Given the description of an element on the screen output the (x, y) to click on. 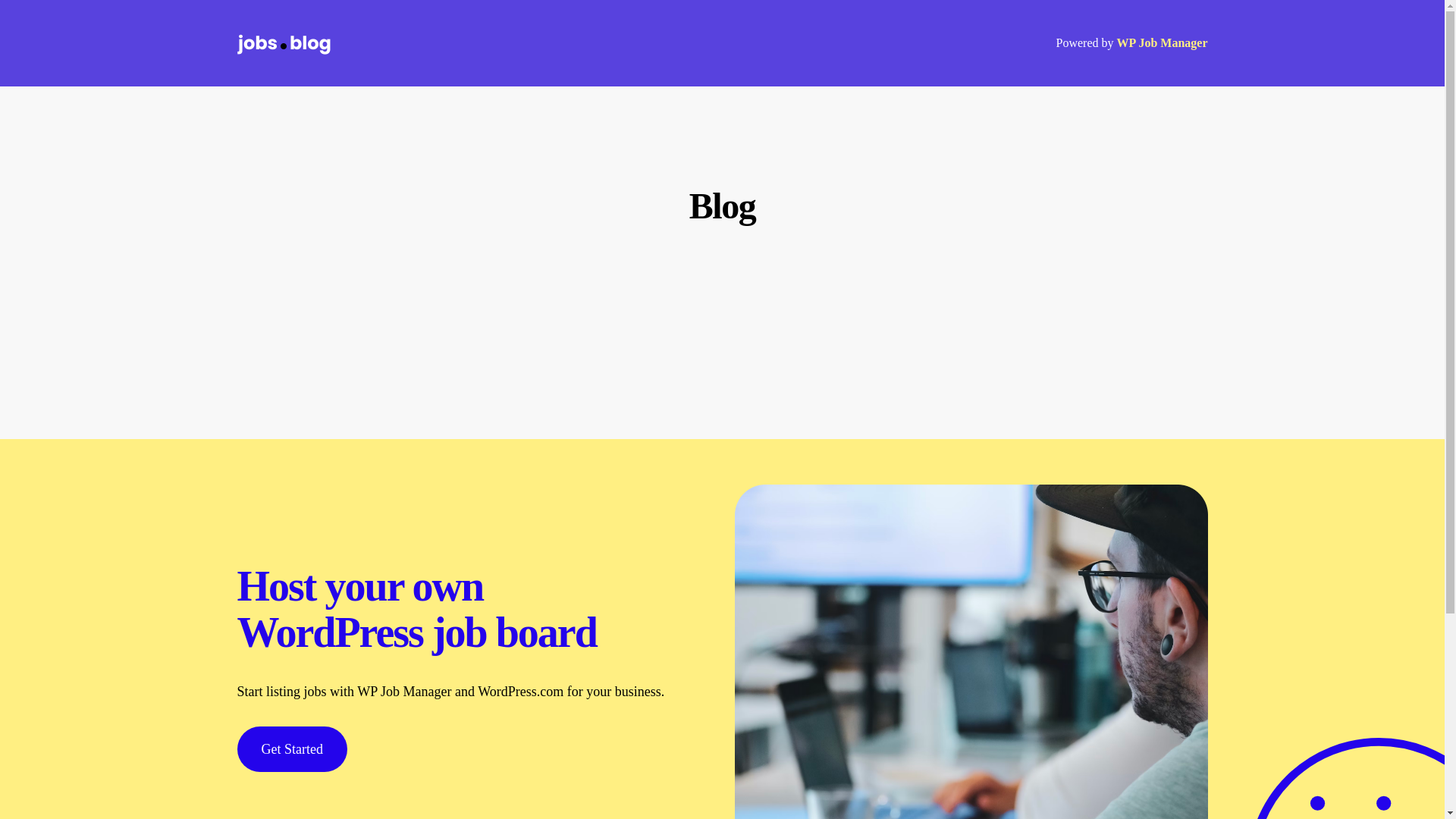
Get Started (290, 749)
WP Job Manager (1161, 42)
